Given the description of an element on the screen output the (x, y) to click on. 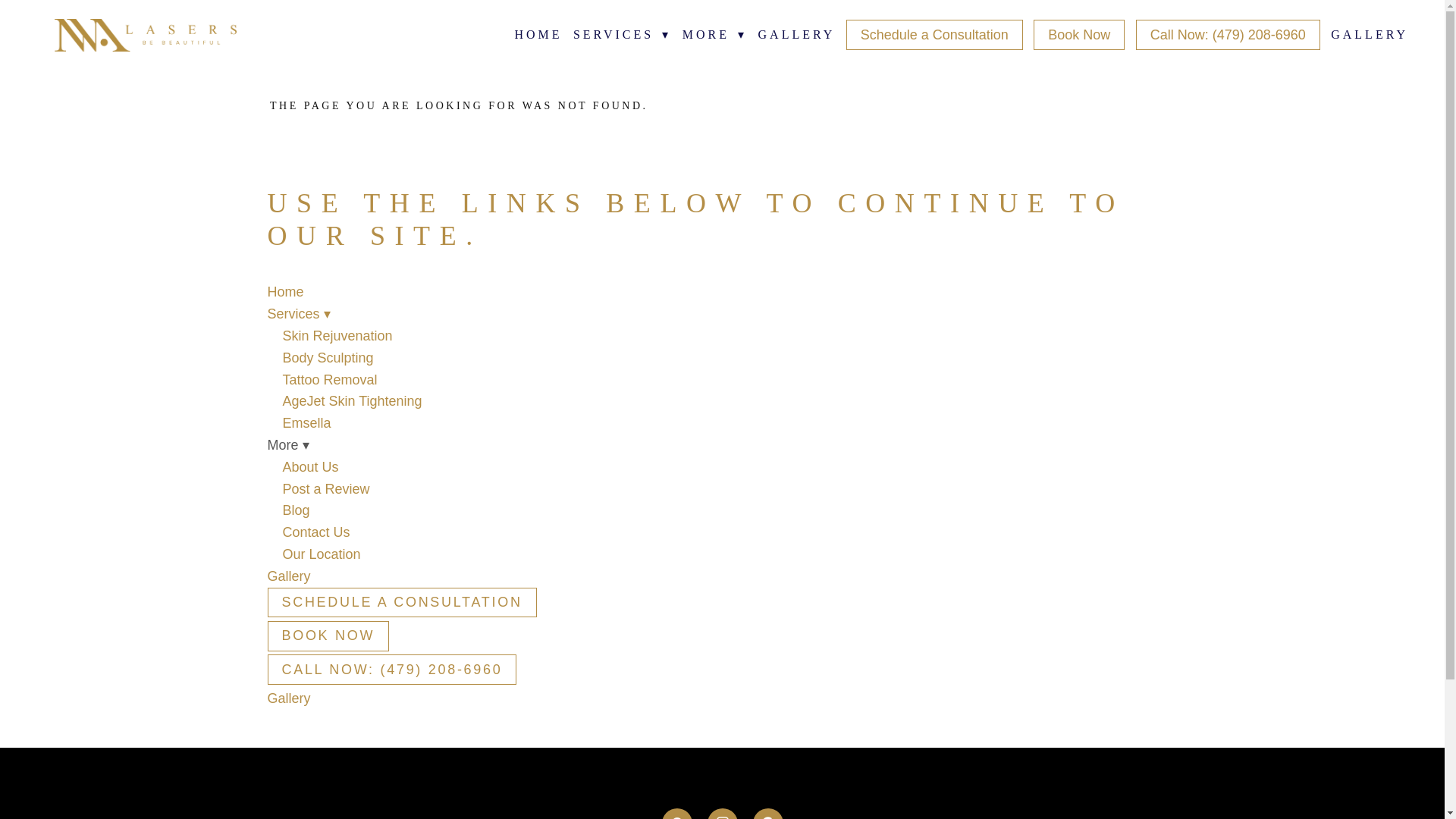
Contact Us (315, 531)
Schedule a Consultation (934, 34)
Skin Rejuvenation (336, 335)
Emsella (306, 422)
Body Sculpting (327, 357)
AgeJet Skin Tightening (352, 400)
BOOK NOW (327, 635)
Post a Review (325, 488)
HOME (537, 34)
About Us (309, 467)
Tattoo Removal (329, 379)
GALLERY (1368, 34)
Home (284, 291)
GALLERY (796, 34)
NWA Lasers and Healthcare (145, 34)
